Given the description of an element on the screen output the (x, y) to click on. 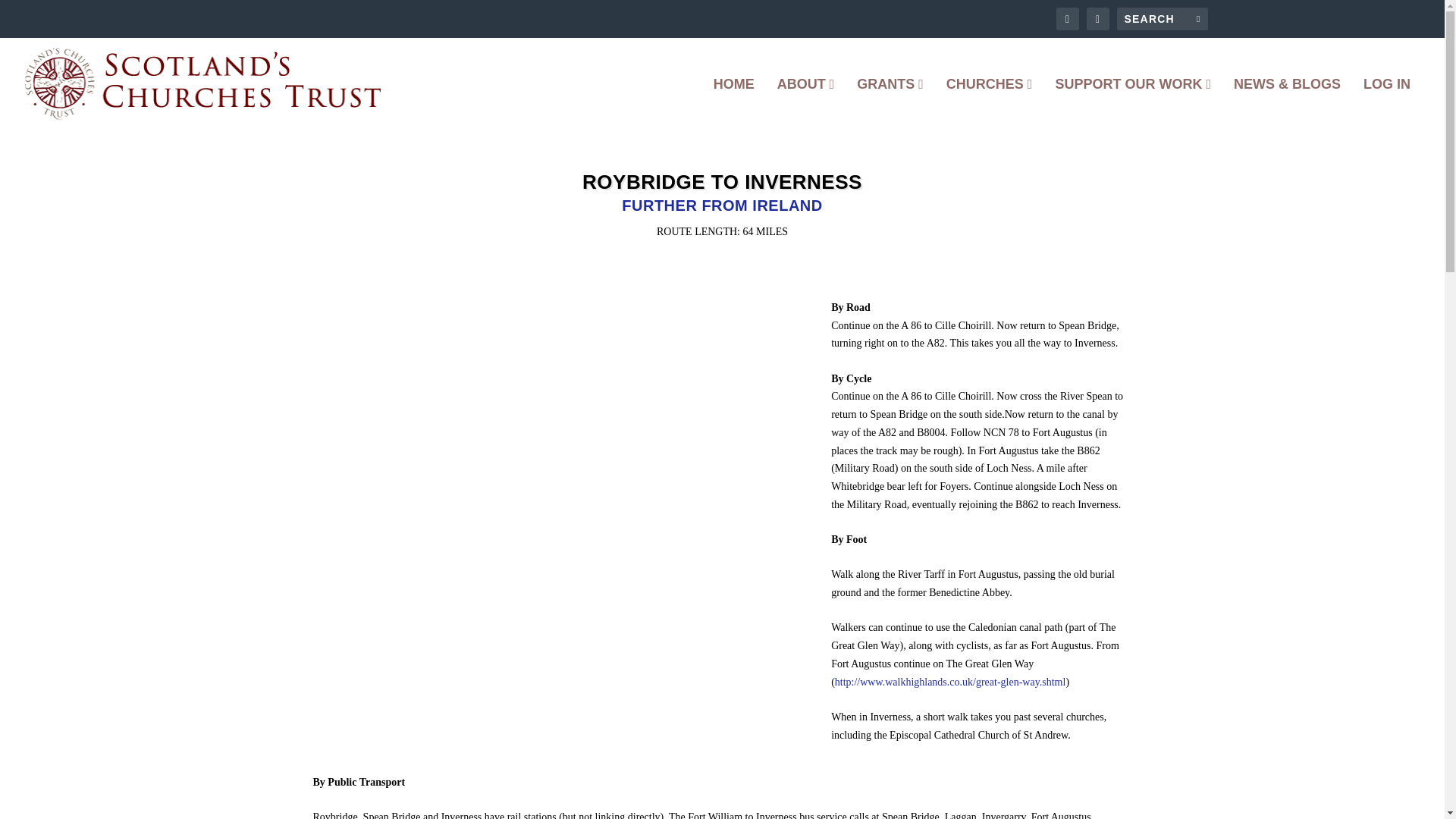
Search for: (1161, 18)
CHURCHES (989, 102)
ABOUT (805, 102)
LOG IN (1386, 102)
GRANTS (890, 102)
SUPPORT OUR WORK (1132, 102)
